Given the description of an element on the screen output the (x, y) to click on. 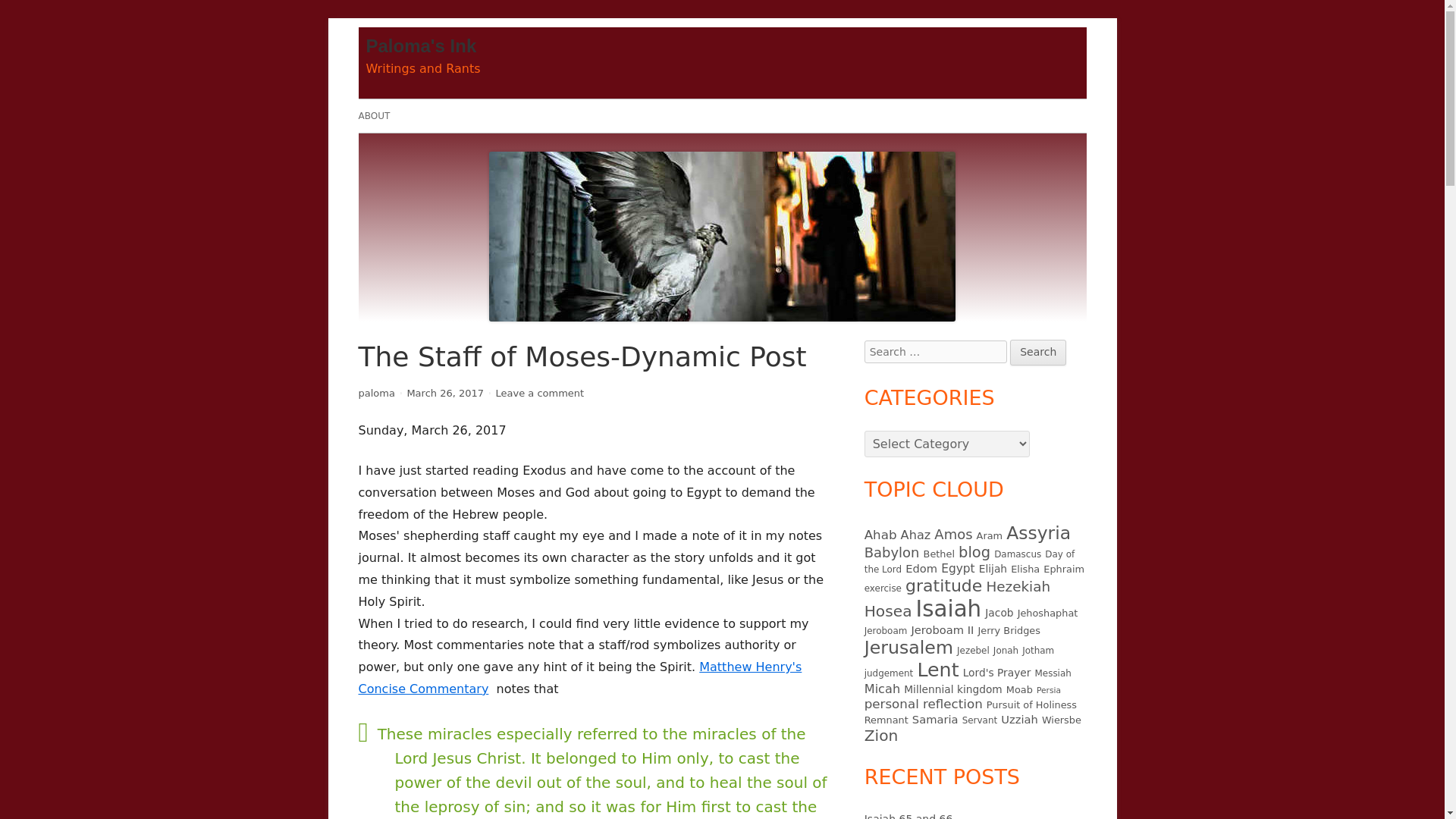
March 26, 2017 (444, 392)
Damascus (1017, 553)
blog (974, 552)
Egypt (957, 568)
Edom (921, 567)
Day of the Lord (969, 561)
Matthew Henry's Concise Commentary (580, 678)
Amos (953, 534)
Elisha (540, 392)
Ahab (1024, 568)
Search (880, 534)
ABOUT (1037, 352)
Elijah (374, 115)
Bethel (992, 568)
